Given the description of an element on the screen output the (x, y) to click on. 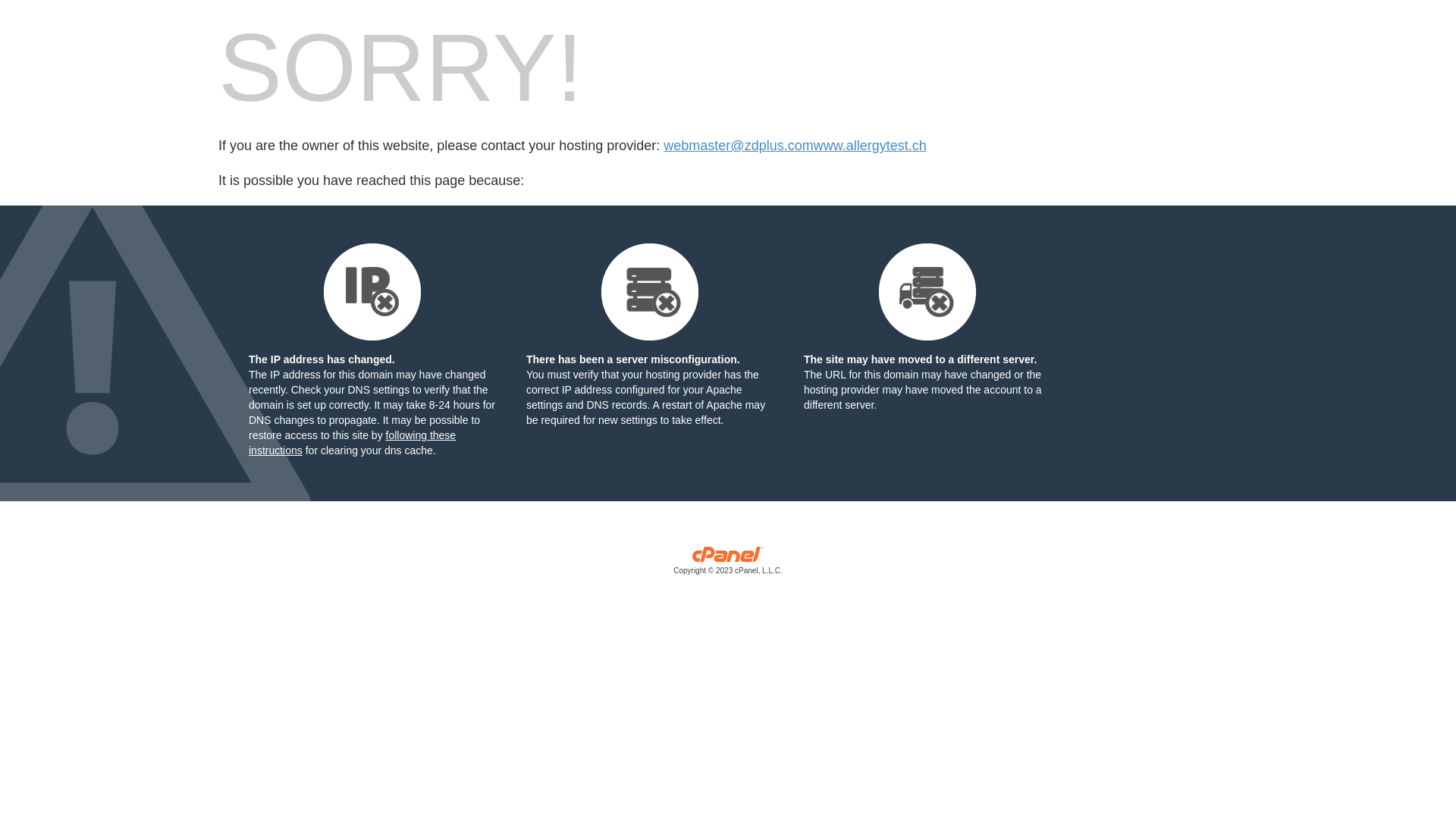
webmaster@zdplus.comwww.allergytest.ch Element type: text (794, 145)
following these instructions Element type: text (351, 442)
